Given the description of an element on the screen output the (x, y) to click on. 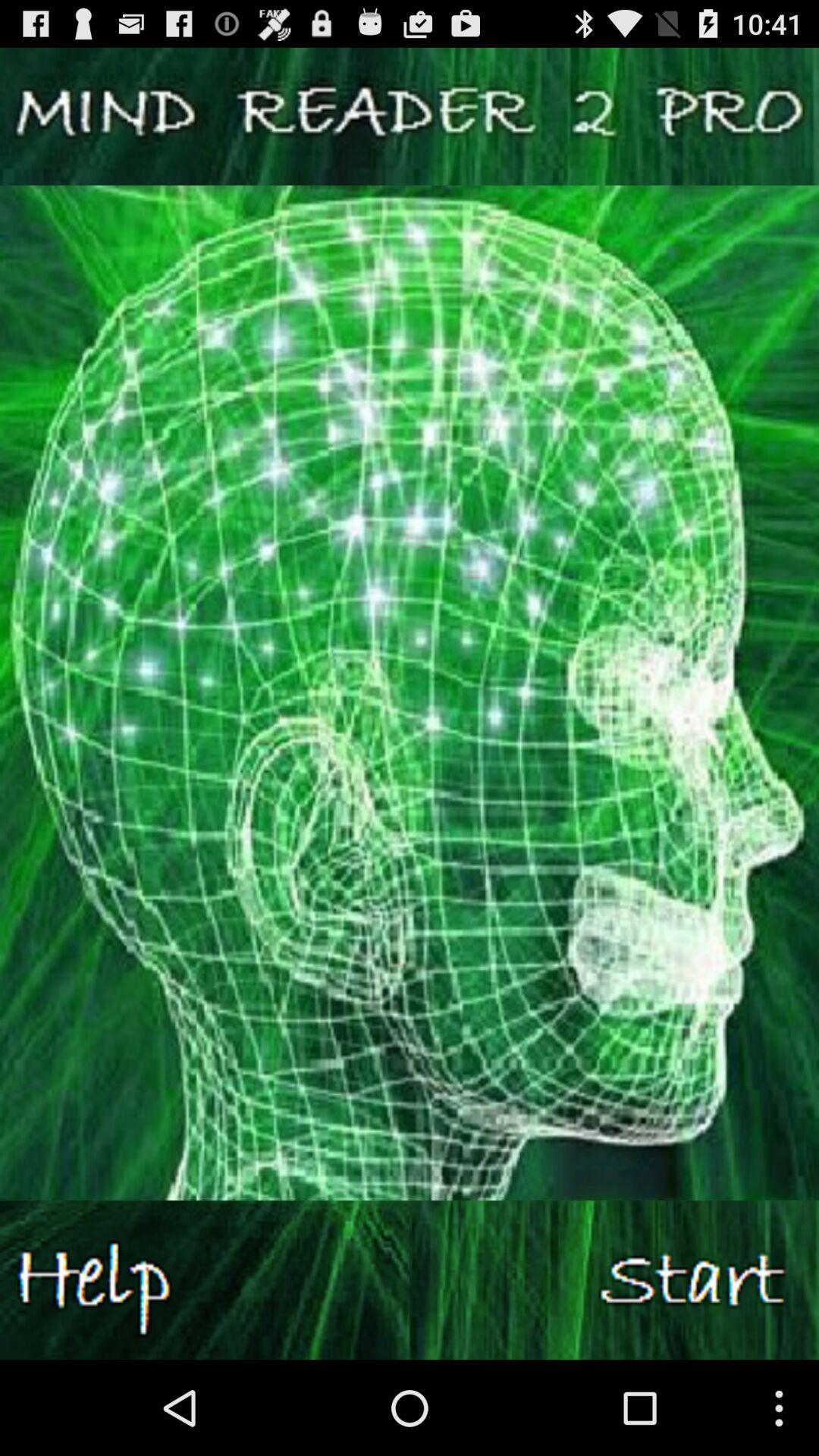
start (614, 1279)
